Given the description of an element on the screen output the (x, y) to click on. 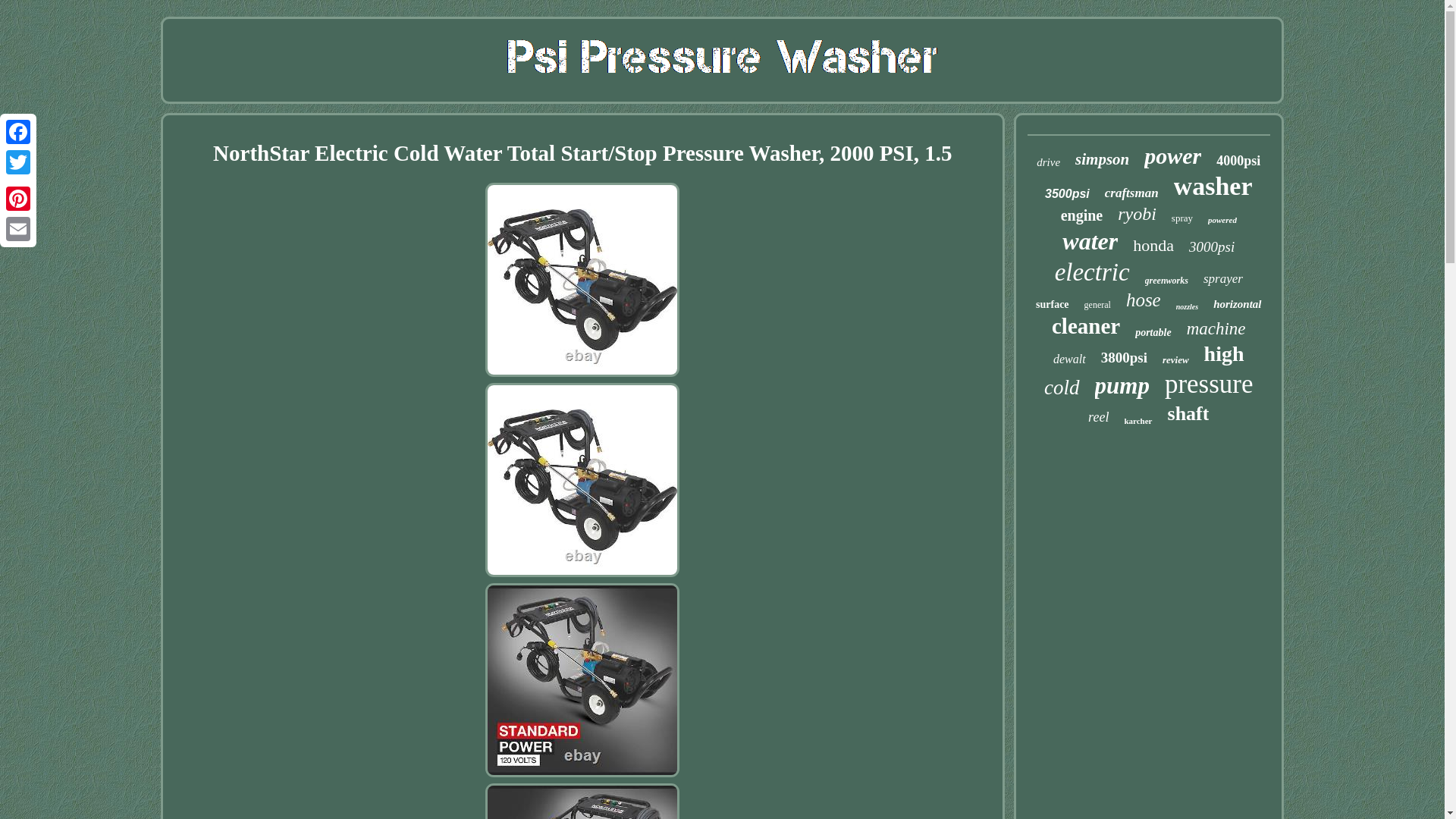
craftsman (1131, 192)
Twitter (17, 162)
ryobi (1137, 213)
review (1175, 359)
sprayer (1223, 278)
dewalt (1069, 359)
3000psi (1211, 247)
engine (1082, 215)
powered (1222, 219)
horizontal (1236, 304)
